Given the description of an element on the screen output the (x, y) to click on. 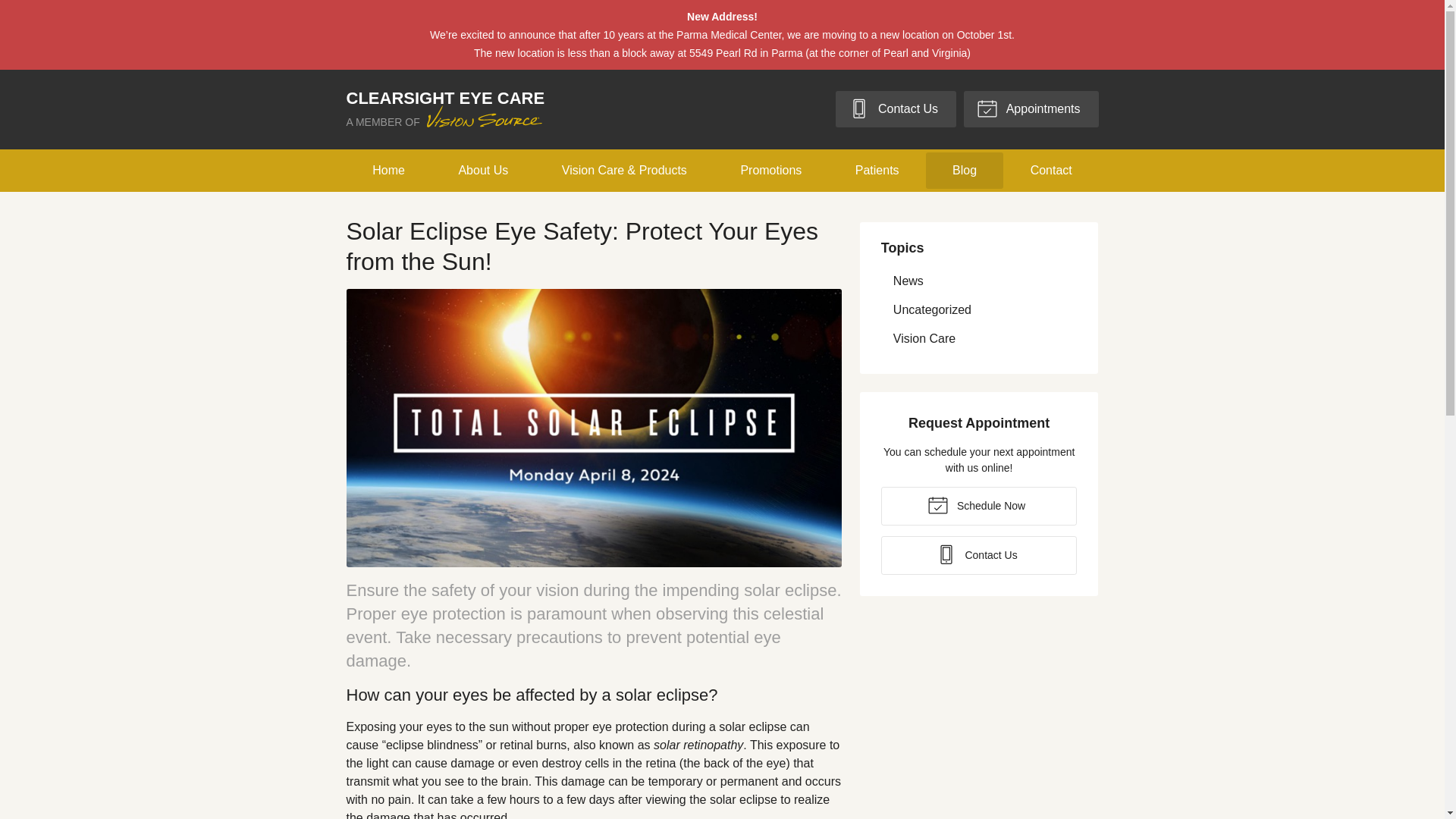
Contact Us (978, 555)
ClearSight Eye Care (445, 109)
Schedule Now (978, 505)
Request Appointment (1030, 108)
News (978, 280)
Promotions (771, 170)
Contact (1051, 170)
Patients (445, 109)
About Us (876, 170)
Home (483, 170)
Schedule Now (388, 170)
Contact Us (978, 505)
Contact Us (895, 108)
